Given the description of an element on the screen output the (x, y) to click on. 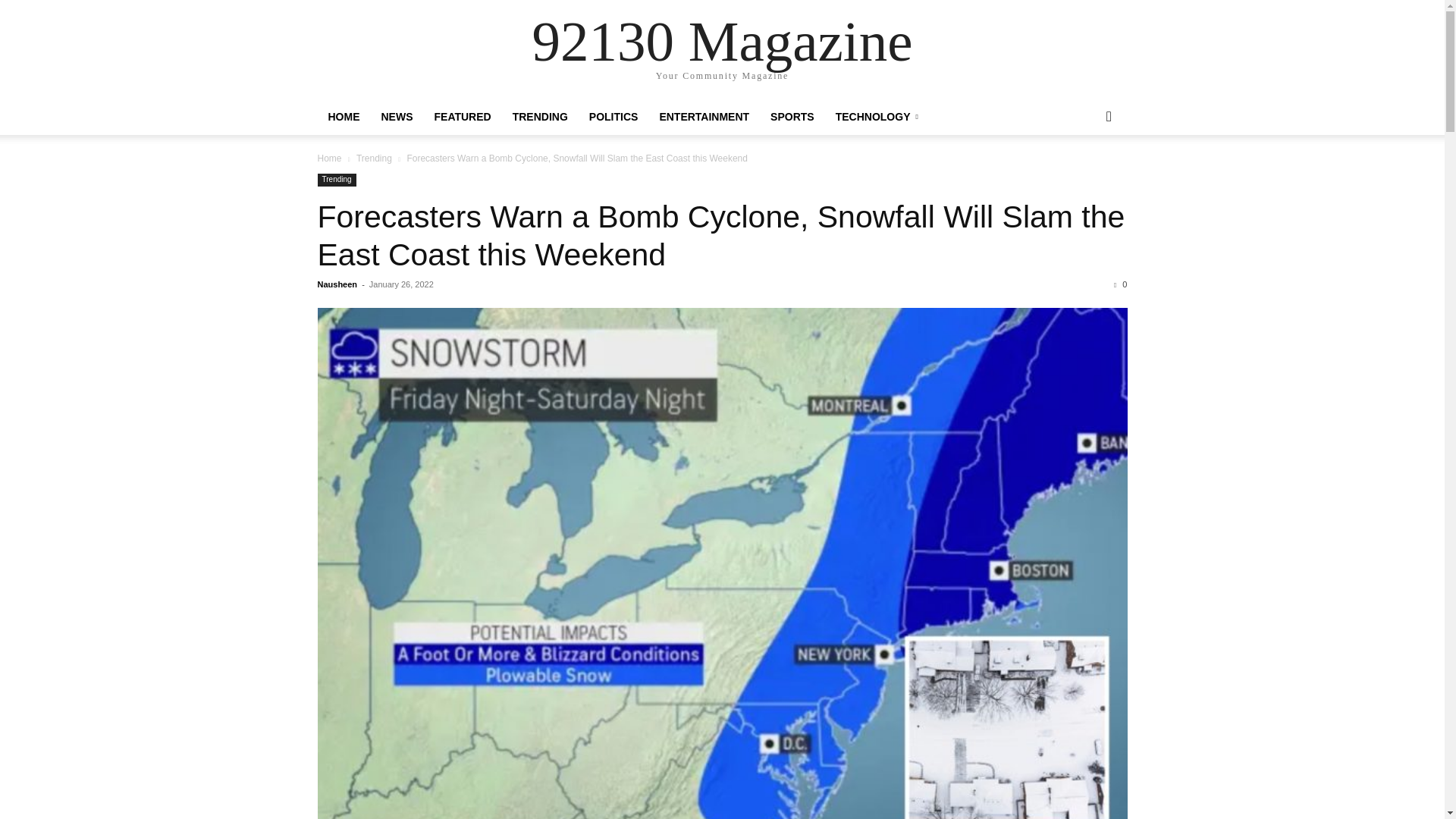
FEATURED (461, 116)
Trending (336, 179)
NEWS (396, 116)
Search (1085, 177)
SPORTS (792, 116)
TRENDING (540, 116)
POLITICS (613, 116)
Home (328, 158)
